Given the description of an element on the screen output the (x, y) to click on. 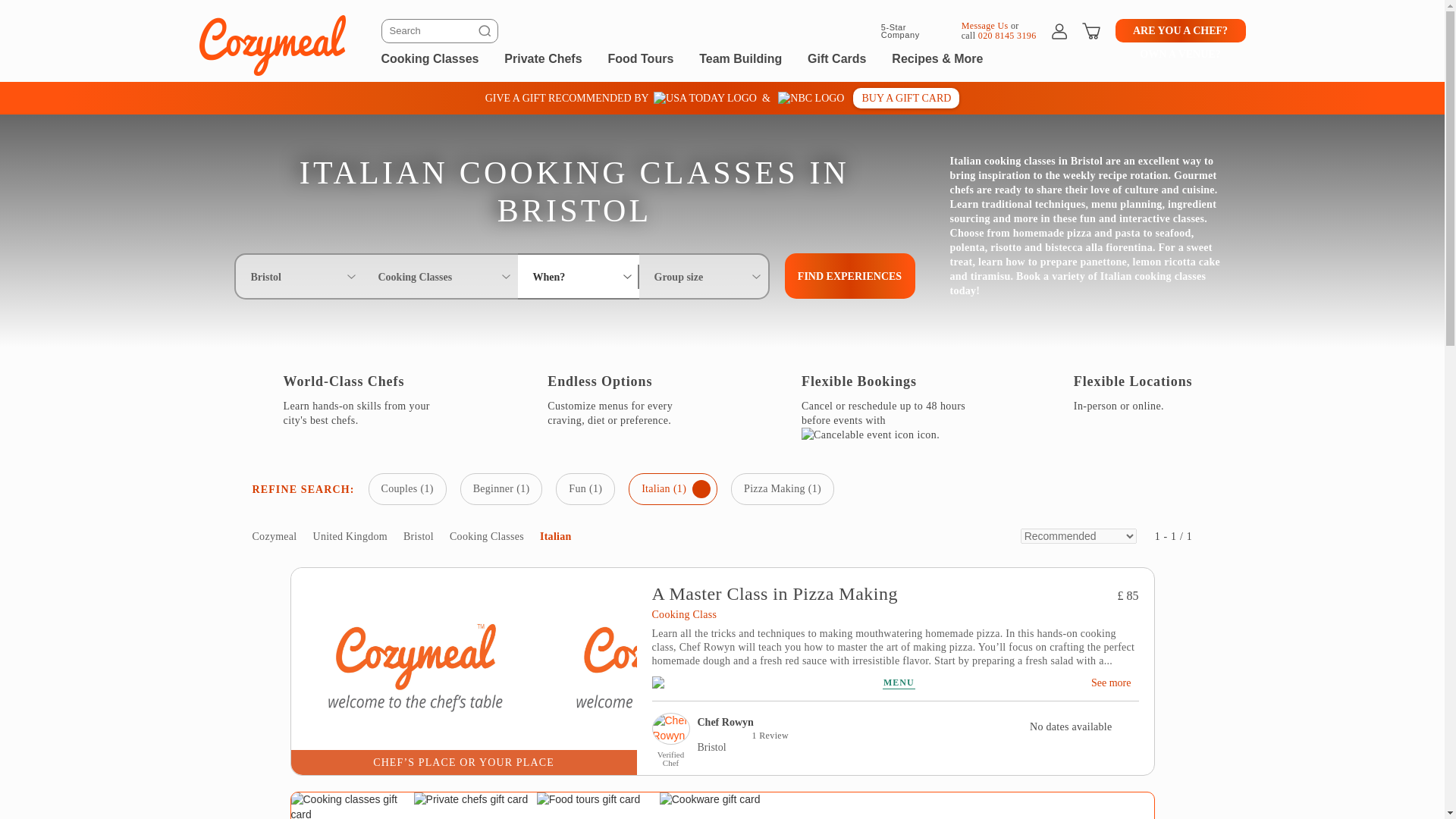
Cooking Classes (429, 58)
Team Building (739, 58)
Gift Cards (837, 58)
Message Us (984, 24)
020 8145 3196 (1007, 35)
Private Chefs (541, 58)
Food Tours (639, 58)
